Given the description of an element on the screen output the (x, y) to click on. 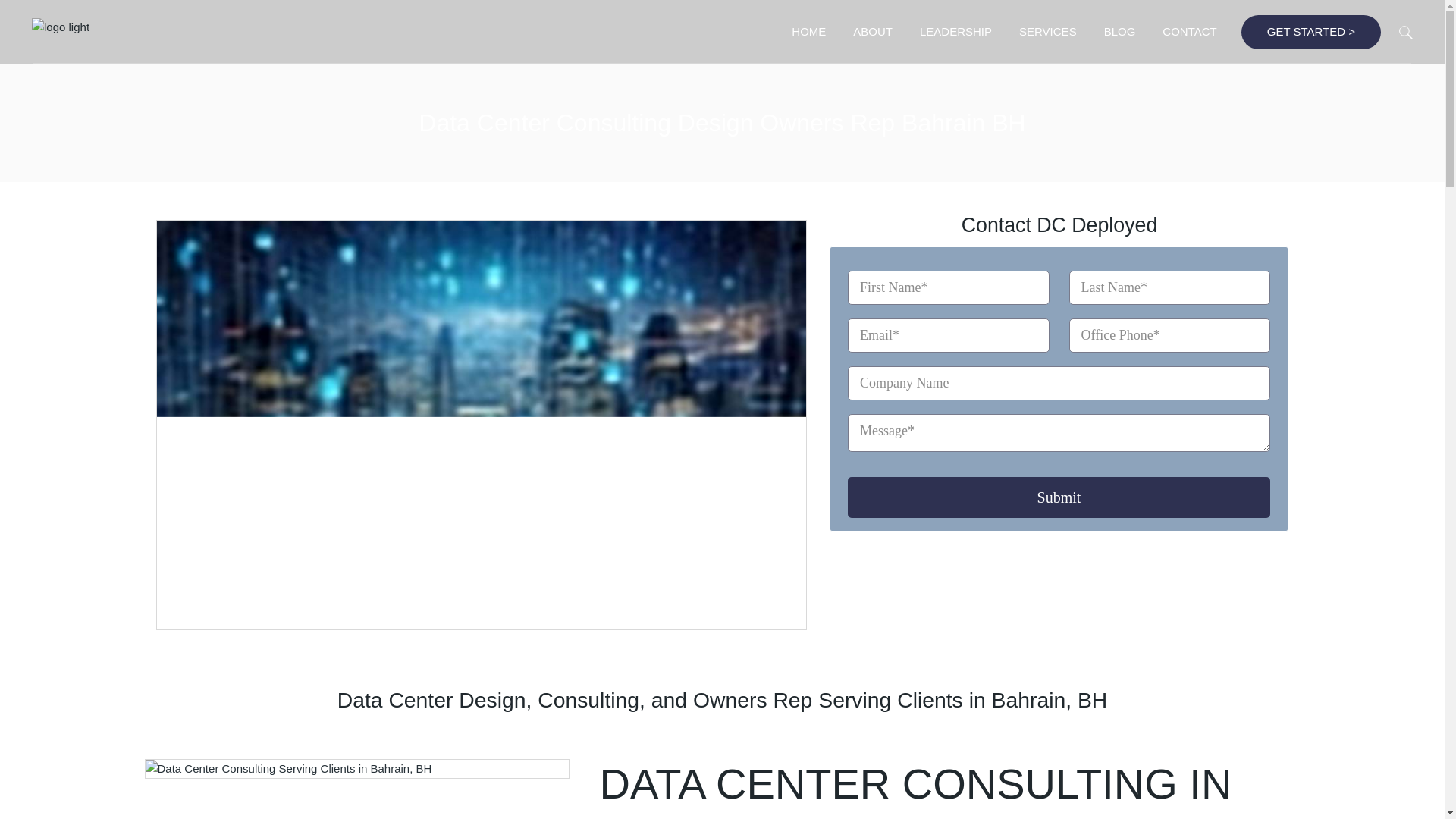
LEADERSHIP (955, 31)
SERVICES (1048, 31)
Contact Form (1058, 388)
